Given the description of an element on the screen output the (x, y) to click on. 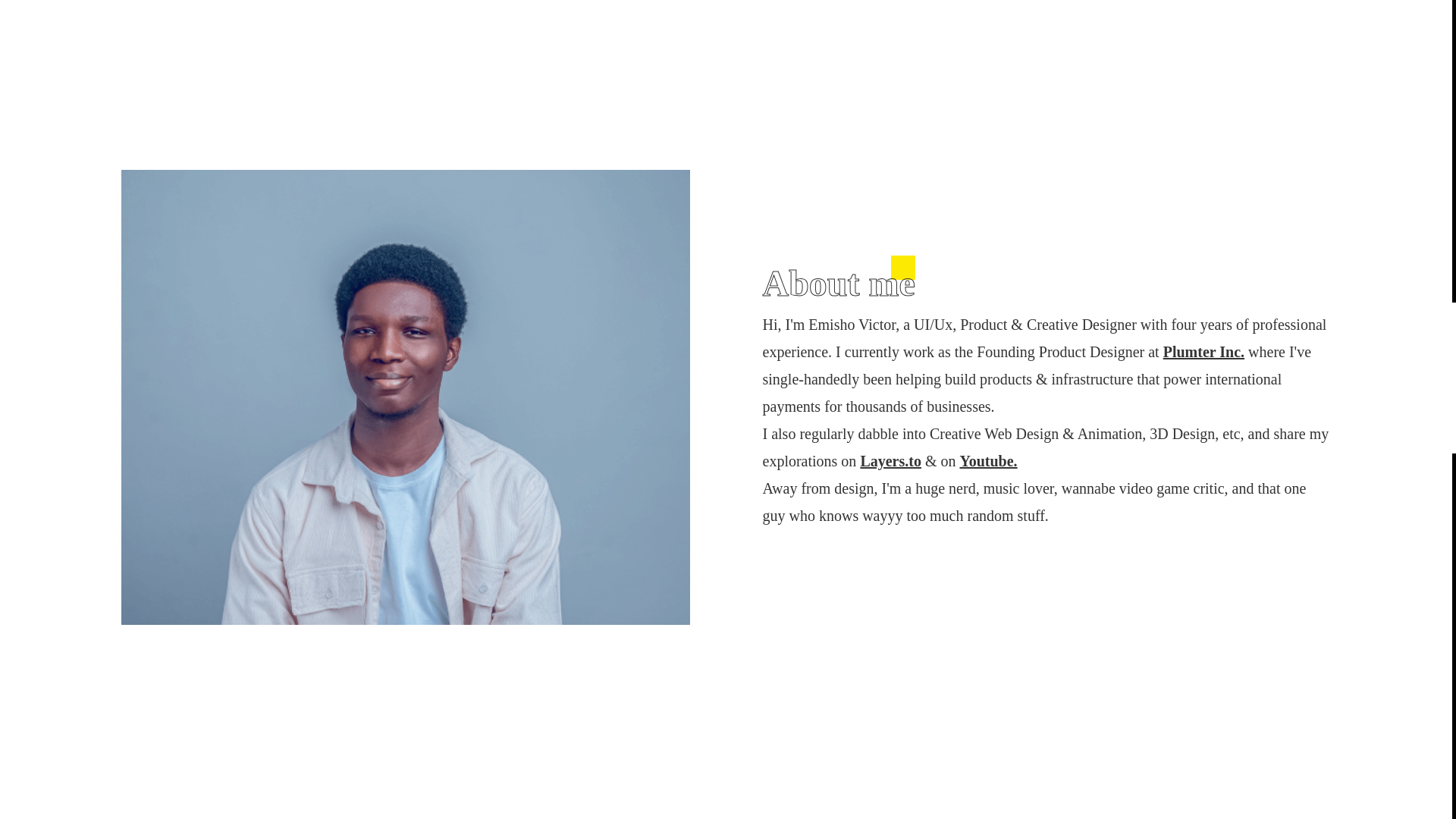
Youtube. (987, 460)
Layers.to (890, 460)
Plumter Inc. (1203, 351)
